Given the description of an element on the screen output the (x, y) to click on. 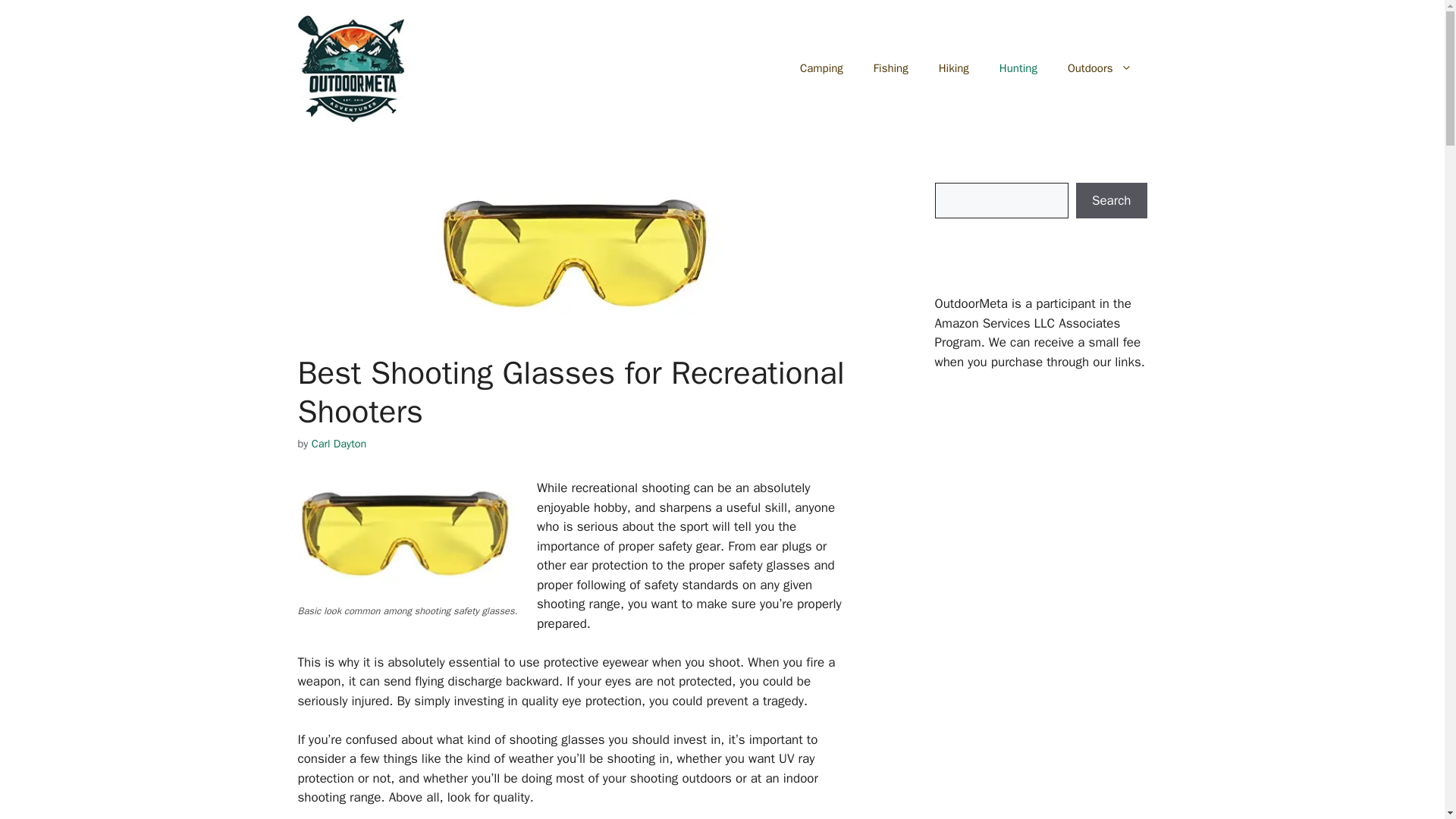
Outdoors (1099, 67)
Carl Dayton (338, 443)
Hiking (953, 67)
View all posts by Carl Dayton (338, 443)
Fishing (891, 67)
Camping (821, 67)
Hunting (1018, 67)
Search (1111, 200)
